Given the description of an element on the screen output the (x, y) to click on. 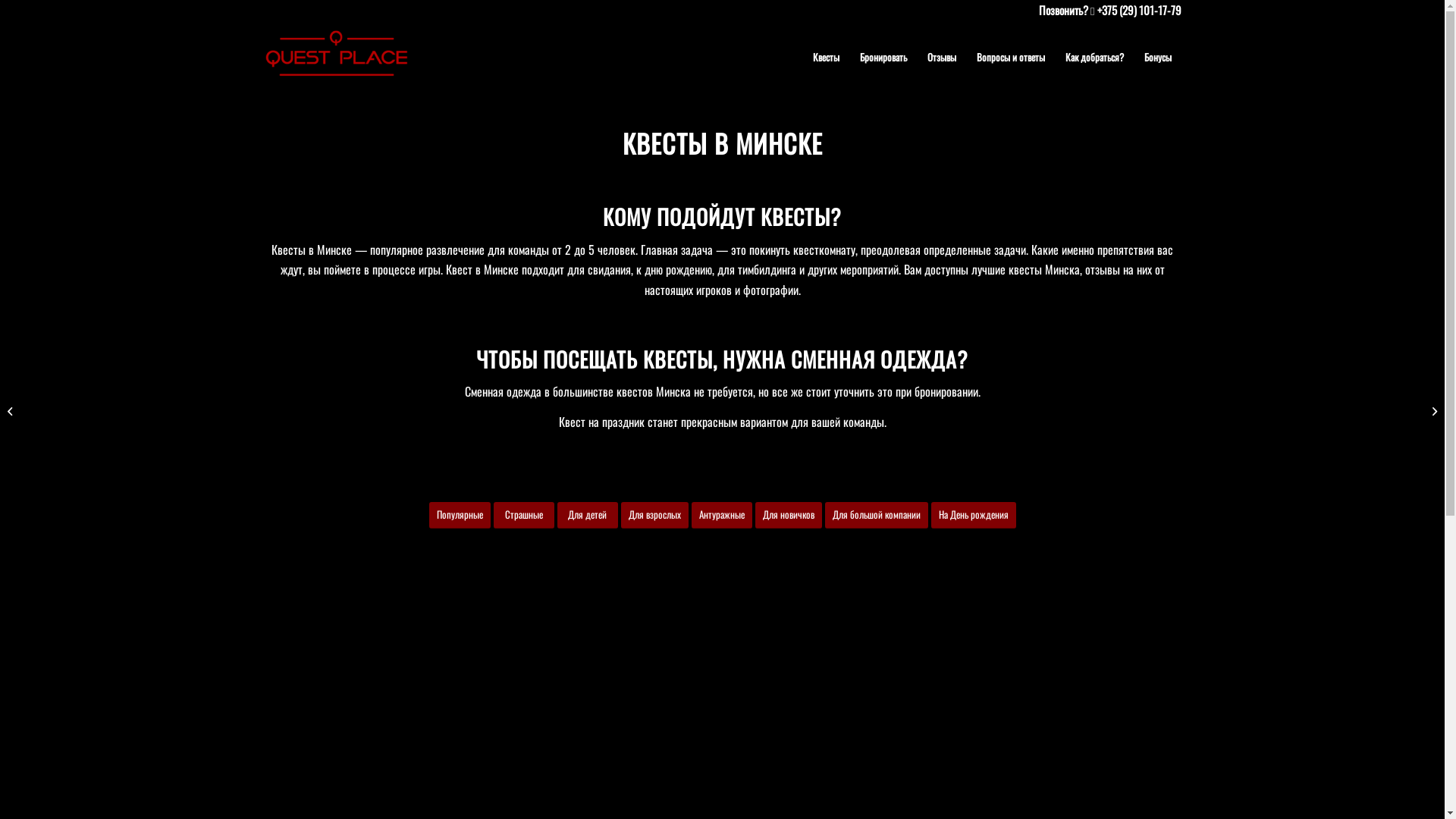
+375 (29) 101-17-79 Element type: text (1138, 9)
